Given the description of an element on the screen output the (x, y) to click on. 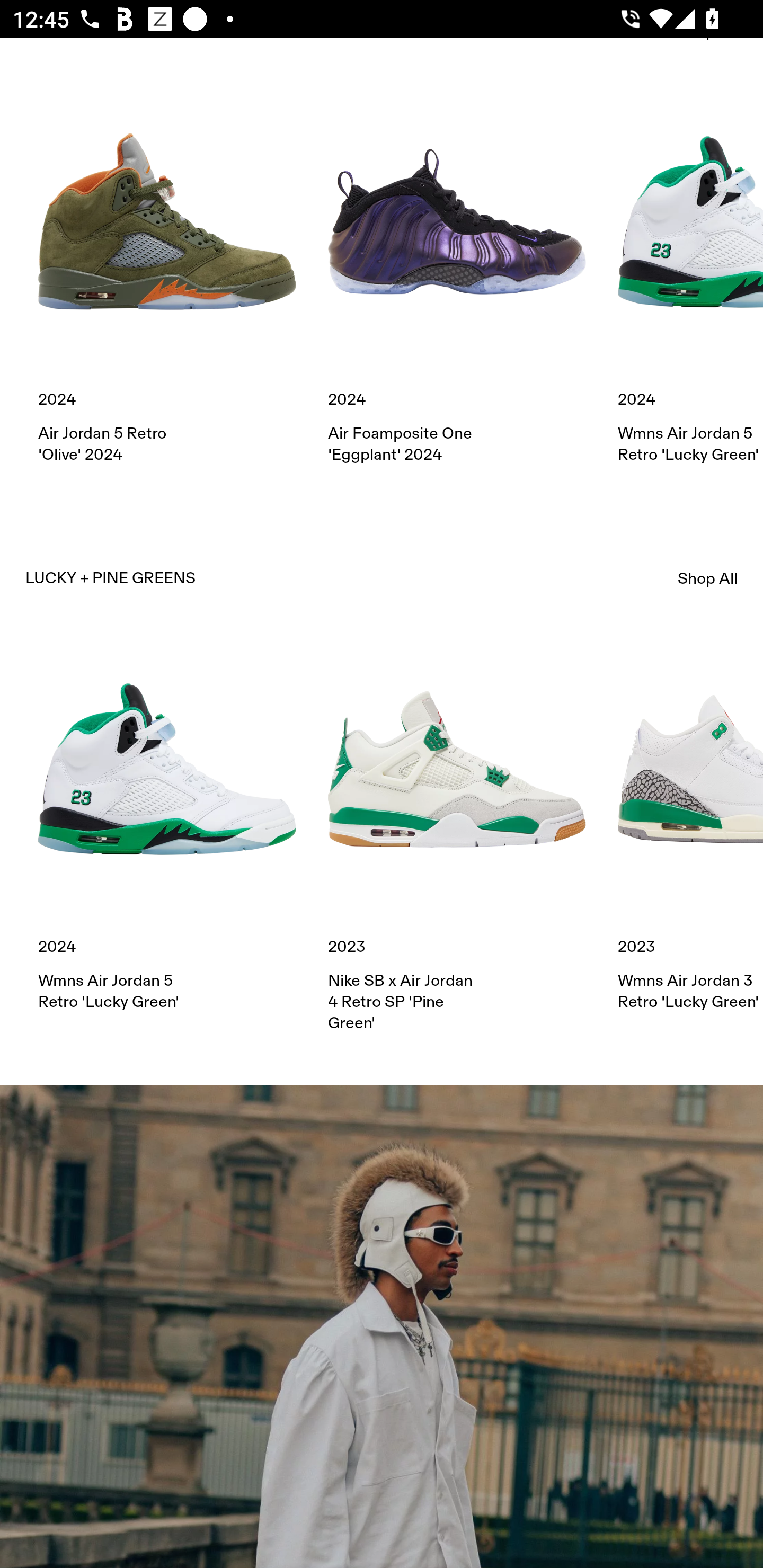
2024 Air Jordan 5 Retro 'Olive' 2024 (167, 278)
2024 Air Foamposite One 'Eggplant' 2024 (456, 278)
2024 Wmns Air Jordan 5 Retro 'Lucky Green' (690, 278)
Shop All (707, 578)
2024 Wmns Air Jordan 5 Retro 'Lucky Green' (167, 825)
2023 Nike SB x Air Jordan 4 Retro SP 'Pine Green' (456, 836)
2023 Wmns Air Jordan 3 Retro 'Lucky Green' (690, 825)
